Given the description of an element on the screen output the (x, y) to click on. 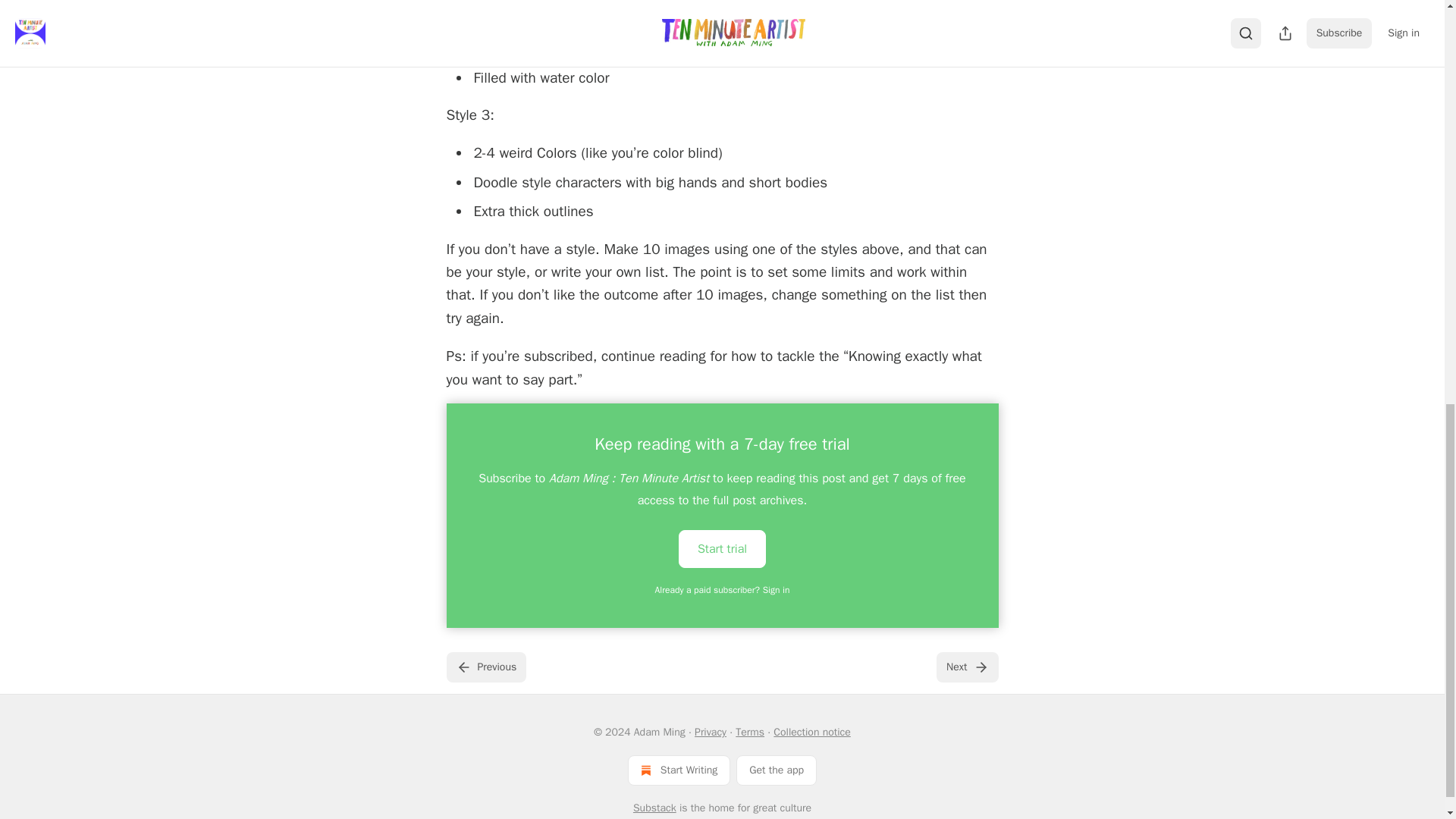
Collection notice (811, 731)
Next (966, 666)
Start trial (721, 548)
Already a paid subscriber? Sign in (722, 589)
Get the app (776, 770)
Terms (749, 731)
Start trial (721, 547)
Privacy (710, 731)
Previous (485, 666)
Substack (655, 807)
Start Writing (678, 770)
